Given the description of an element on the screen output the (x, y) to click on. 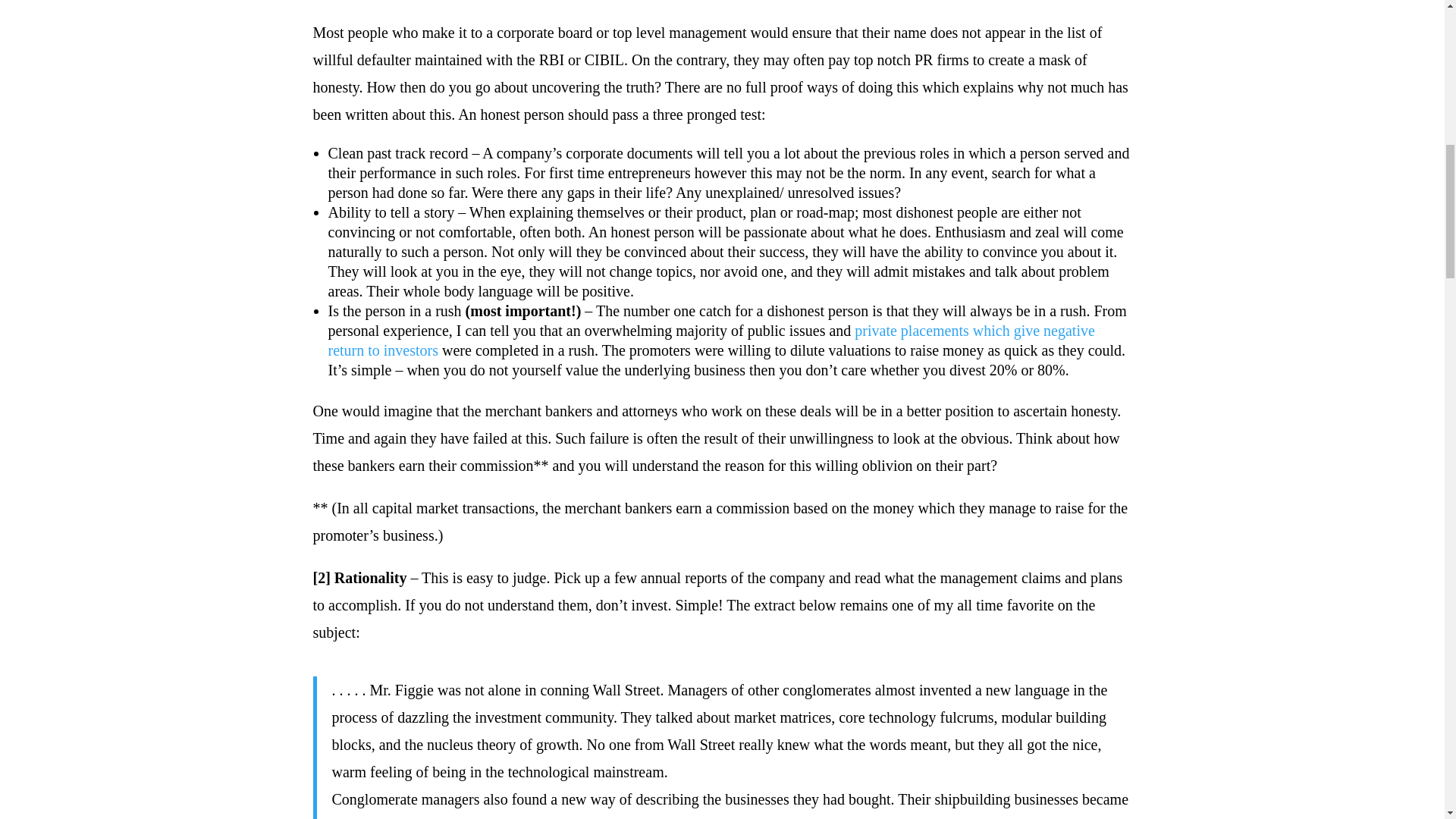
private placements which give negative return to investors (710, 340)
